Given the description of an element on the screen output the (x, y) to click on. 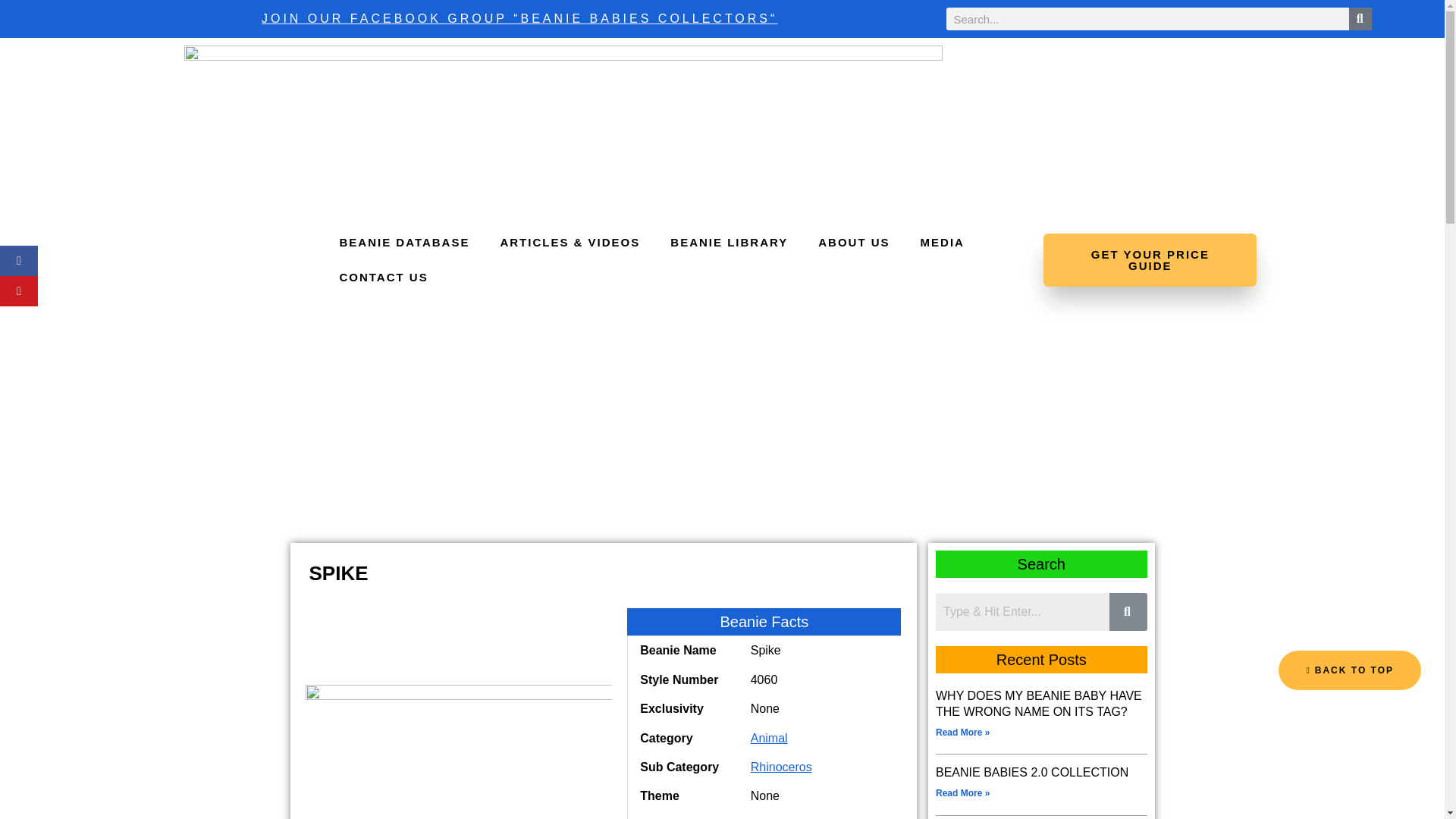
GET YOUR PRICE GUIDE (1149, 259)
Animal (769, 737)
BEANIE LIBRARY (729, 242)
SEARCH (1360, 18)
WHY DOES MY BEANIE BABY HAVE THE WRONG NAME ON ITS TAG? (1038, 703)
BEANIE DATABASE (403, 242)
Search (1022, 611)
Rhinoceros (781, 766)
ABOUT US (853, 242)
BEANIE BABIES 2.0 COLLECTION (1032, 771)
